Given the description of an element on the screen output the (x, y) to click on. 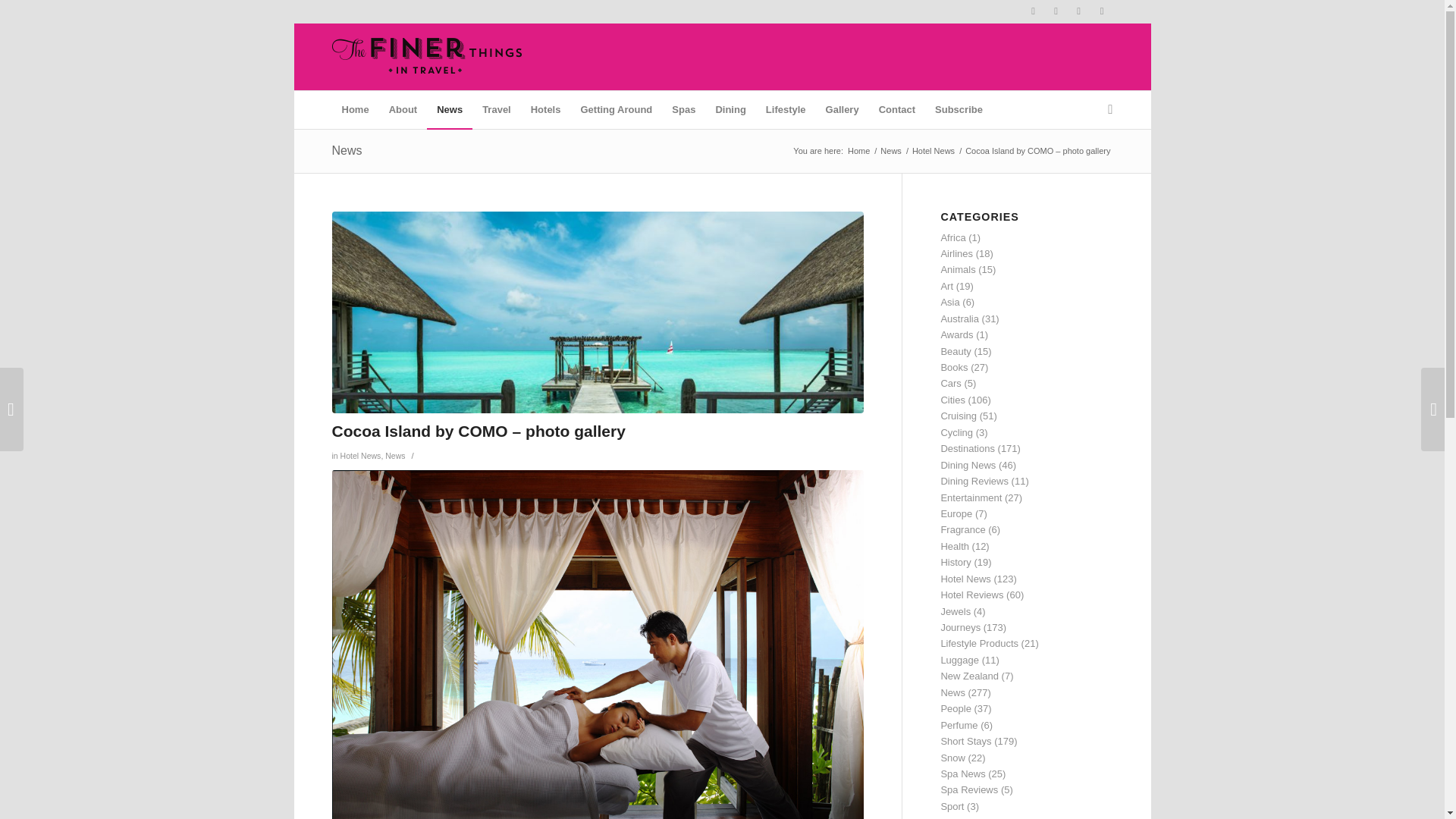
Getting Around (616, 109)
About (403, 109)
Dining (729, 109)
News (448, 109)
Permanent Link: News (346, 150)
Hotels (545, 109)
Home (354, 109)
Lifestyle (785, 109)
Travel (496, 109)
Spas (683, 109)
